Given the description of an element on the screen output the (x, y) to click on. 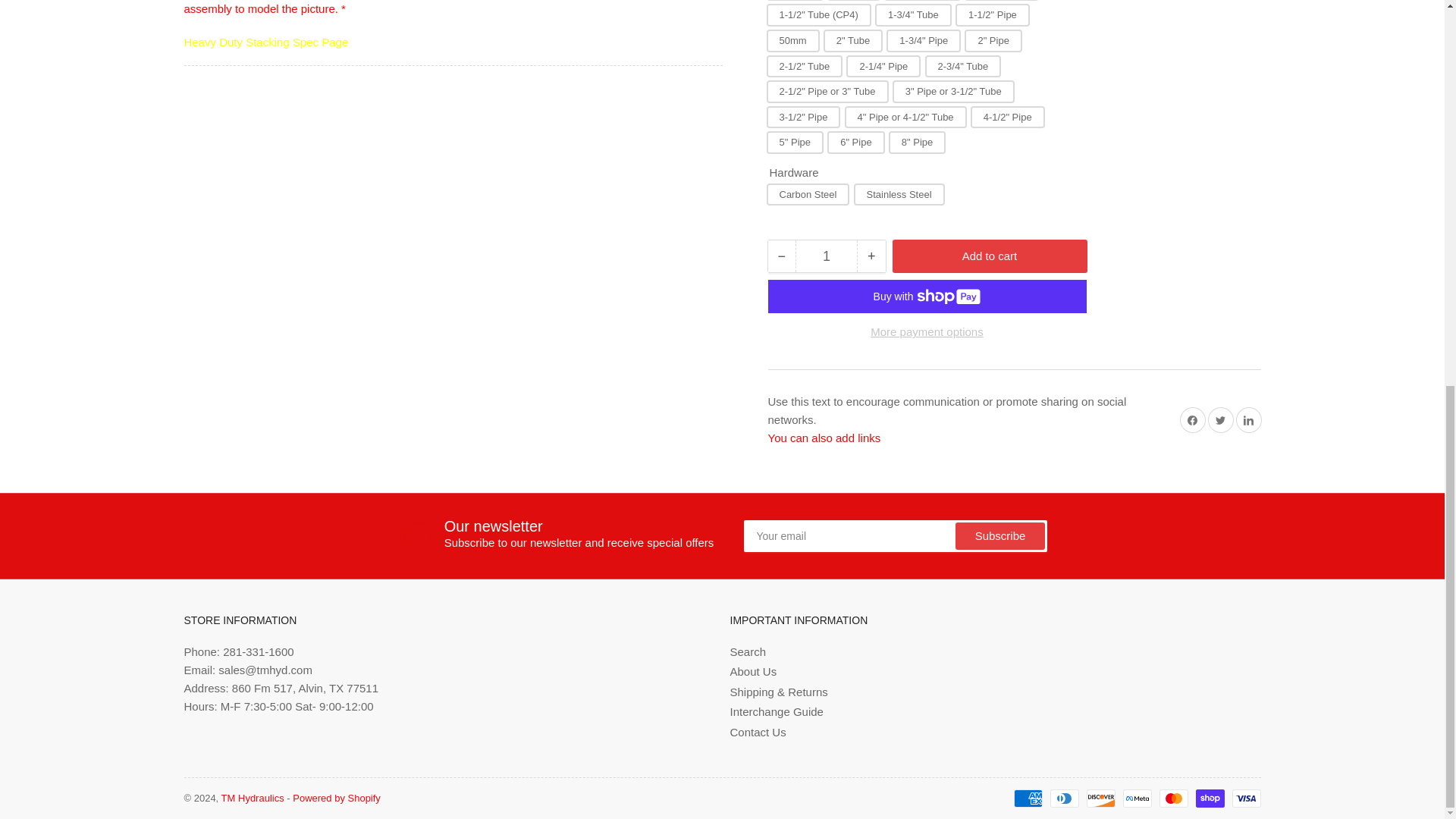
Mastercard (1173, 798)
American Express (1027, 798)
Shop Pay (1209, 798)
Diners Club (1063, 798)
Meta Pay (1136, 798)
Discover (1100, 798)
Visa (1245, 798)
